Given the description of an element on the screen output the (x, y) to click on. 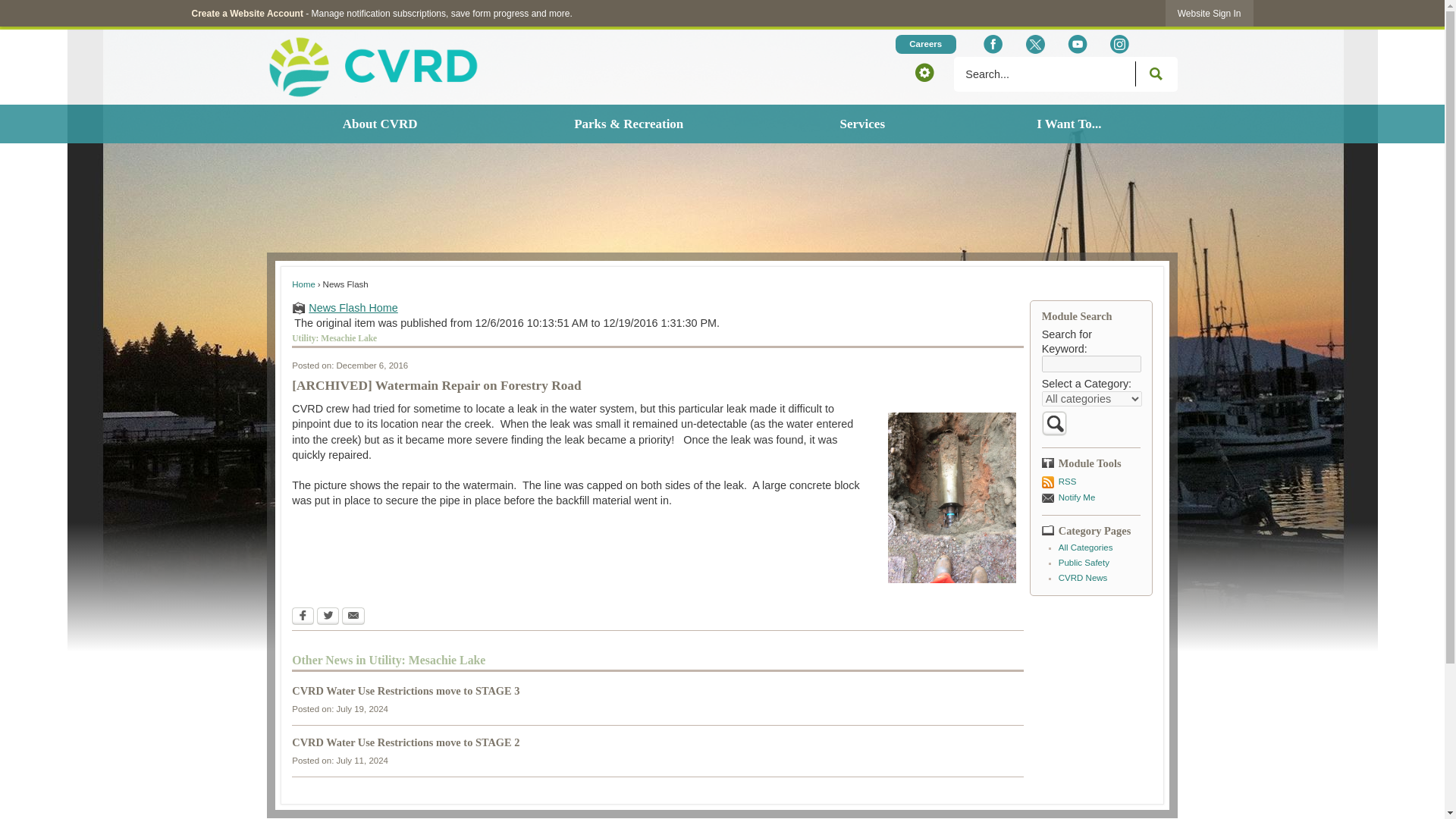
Share via Email (352, 614)
CVRD News (1083, 577)
News Flash Home (657, 307)
Create a Website Account (246, 13)
CVRD Water Use Restrictions move to STAGE 3 (405, 690)
All Categories (1085, 547)
I Want To... (1068, 123)
Search... (1065, 73)
Share on Facebook (302, 614)
Share on Twitter (328, 614)
About CVRD (379, 123)
RSS (1091, 481)
Notify Me (1091, 497)
Website Sign In (1209, 13)
Public Safety (1083, 562)
